Given the description of an element on the screen output the (x, y) to click on. 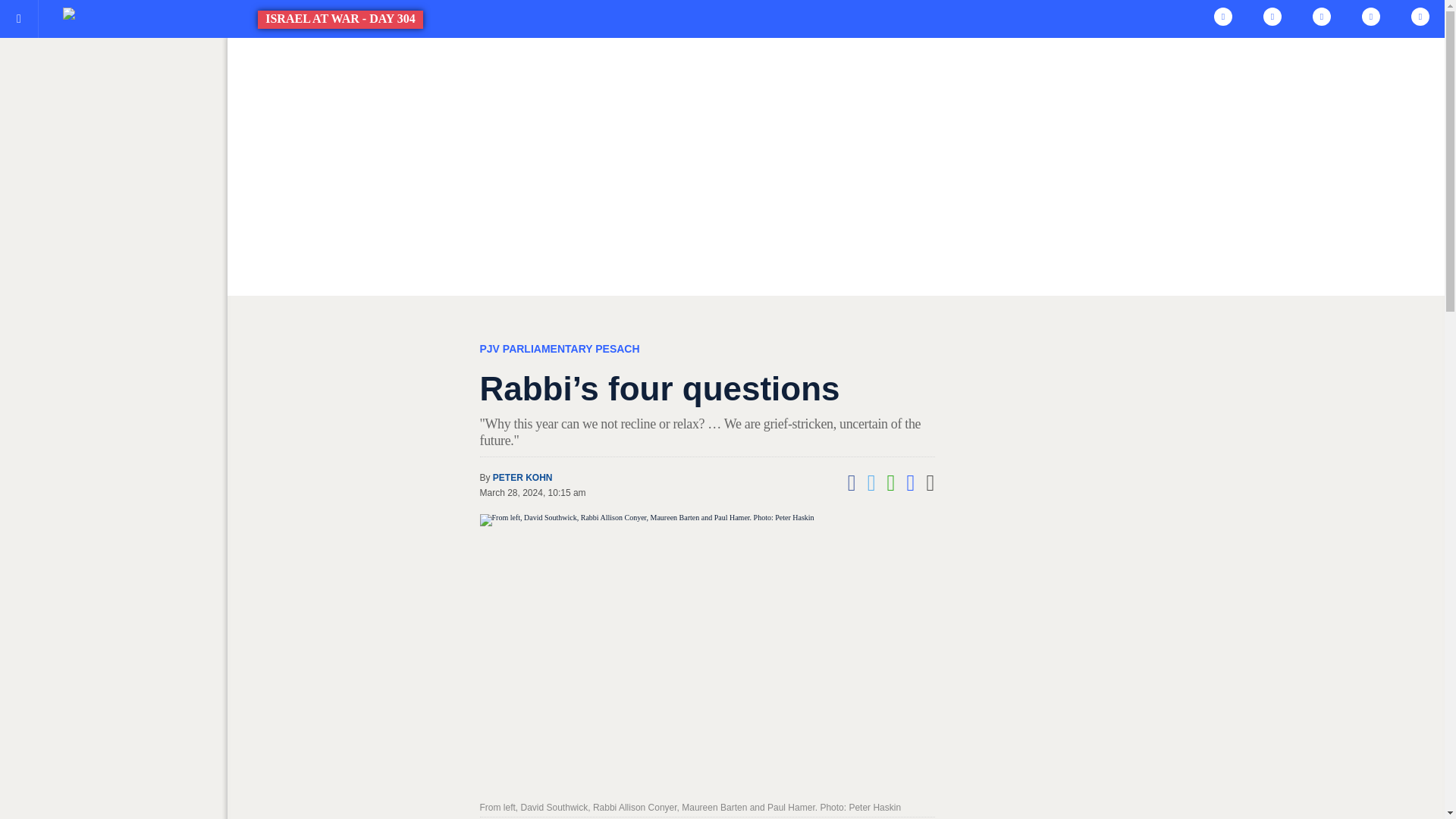
Peter Kohn (523, 477)
ISRAEL AT WAR - DAY 304 (175, 14)
